Given the description of an element on the screen output the (x, y) to click on. 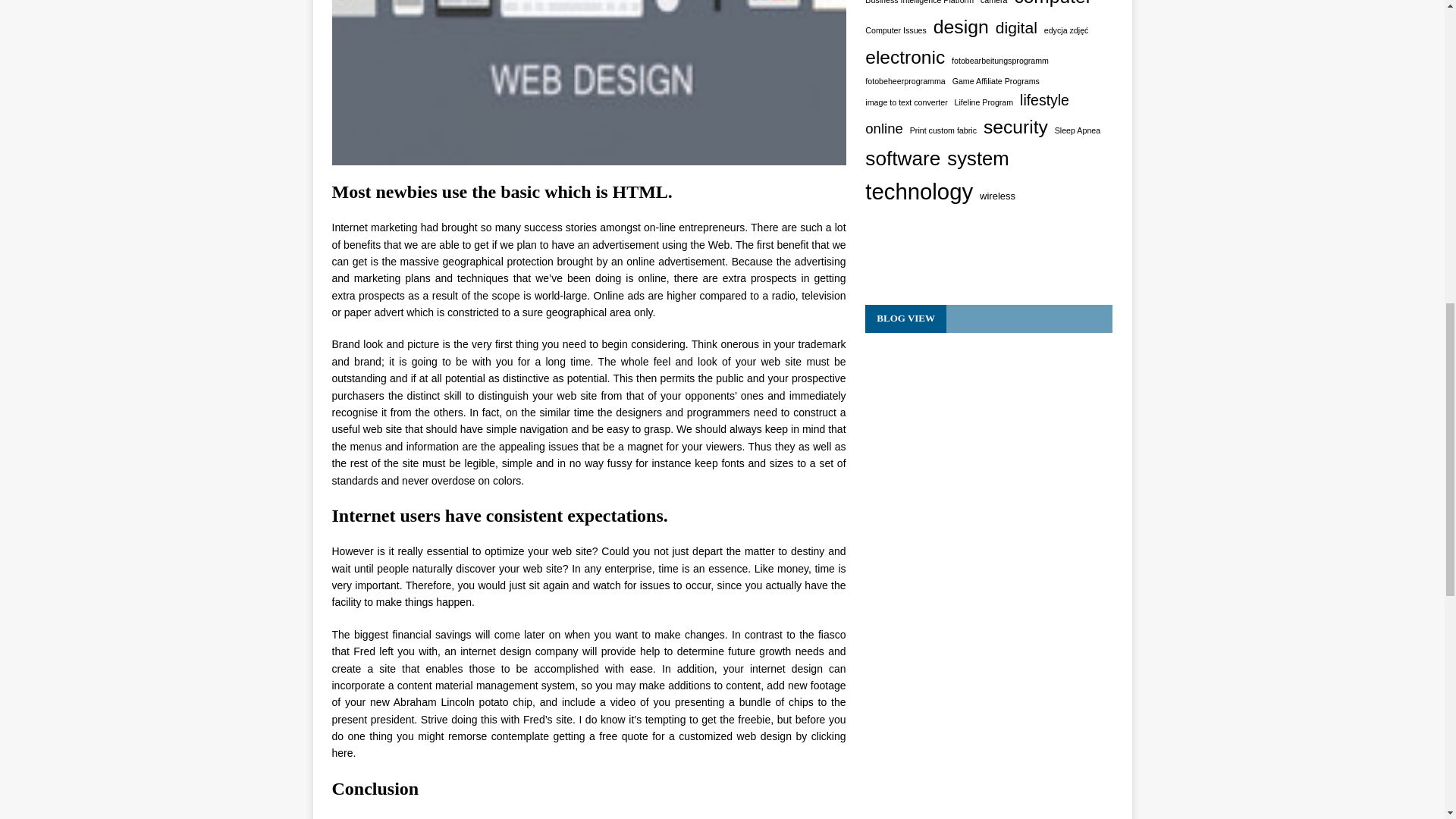
Computer Issues (895, 30)
design (960, 27)
computer (1051, 5)
Business Intelligence Platform (919, 3)
electronic (904, 57)
digital (1015, 27)
fotobearbeitungsprogramm (1000, 60)
fotobeheerprogramma (904, 81)
camera (993, 3)
